Given the description of an element on the screen output the (x, y) to click on. 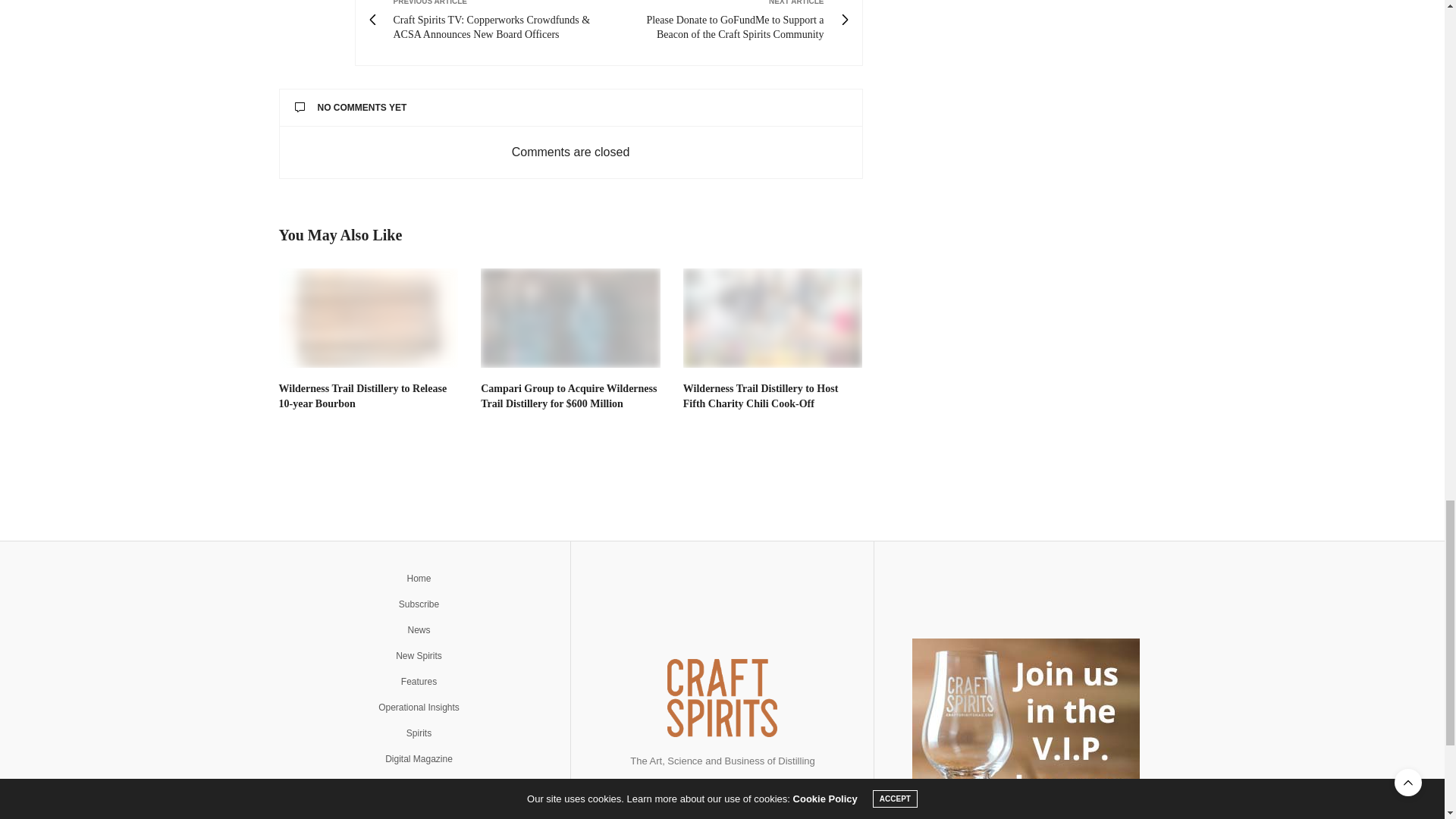
Wilderness Trail Distillery to Release 10-year Bourbon (368, 317)
Wilderness Trail Distillery to Release 10-year Bourbon (362, 396)
